Given the description of an element on the screen output the (x, y) to click on. 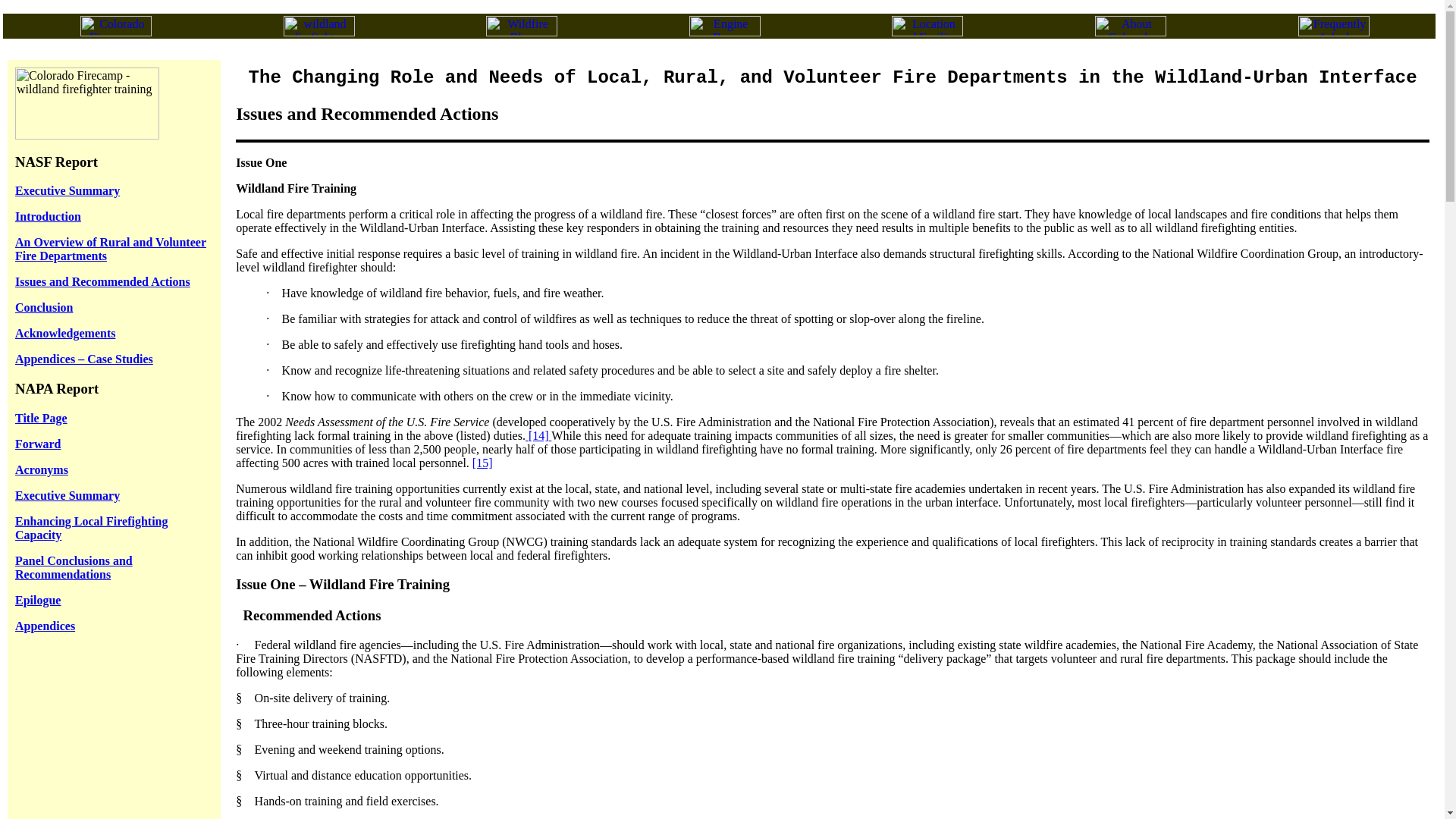
Issues and Recommended Actions (102, 281)
Epilogue (37, 599)
Acknowledgements (64, 332)
Executive Summary (66, 495)
Introduction (47, 215)
Title Page (40, 418)
Acronyms (41, 469)
Enhancing Local Firefighting Capacity (91, 528)
Appendices (44, 625)
Forward (37, 443)
